Given the description of an element on the screen output the (x, y) to click on. 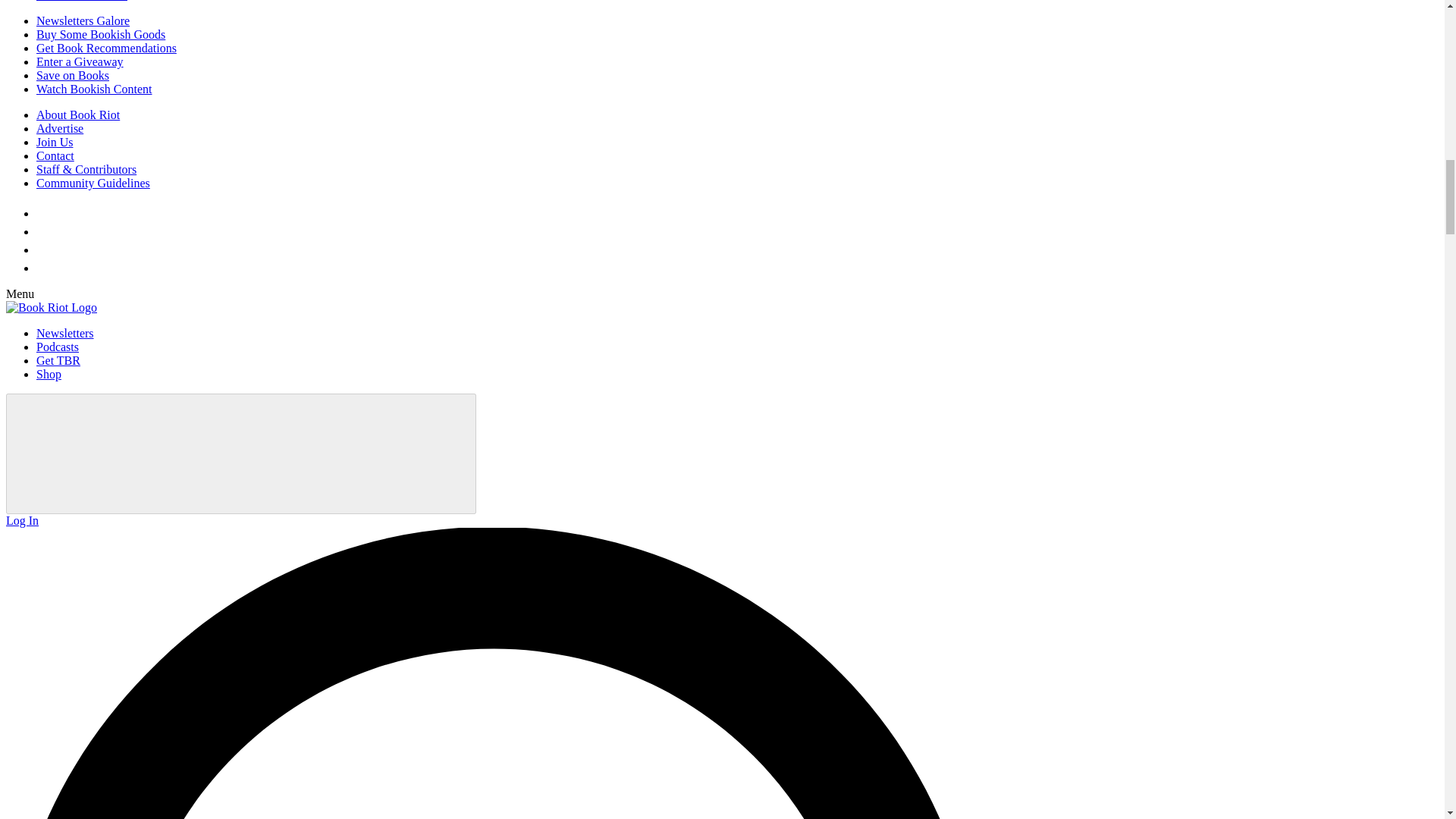
Buy Some Bookish Goods (100, 33)
Get TBR (58, 359)
Shop (48, 373)
About Book Riot (77, 114)
Get Book Recommendations (106, 47)
Newsletters (65, 332)
Community Guidelines (92, 182)
Newsletters Galore (82, 20)
Save on Books (72, 74)
Watch Bookish Content (93, 88)
